Given the description of an element on the screen output the (x, y) to click on. 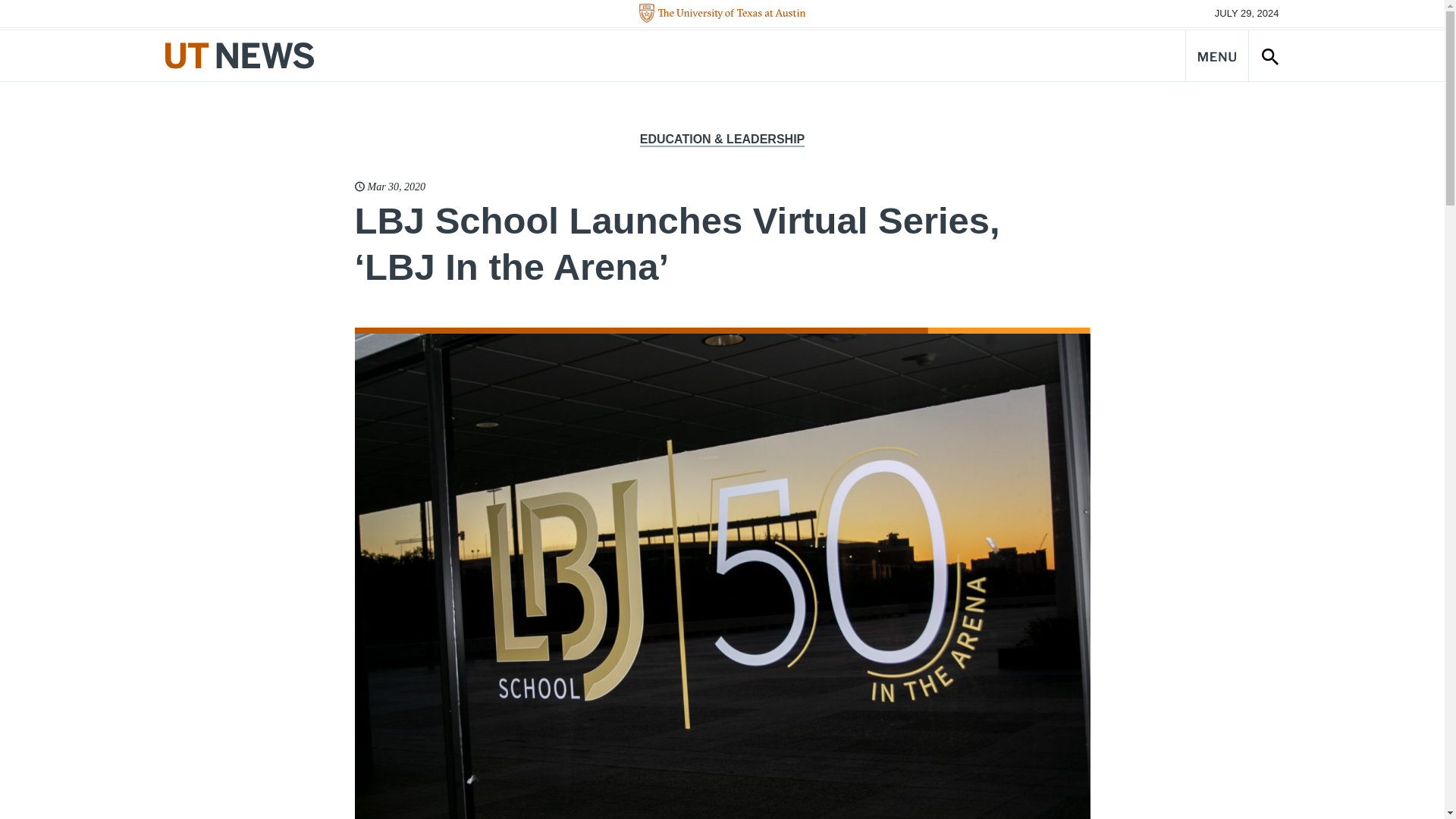
UT News (239, 55)
Navigation (1216, 55)
The University of Texas at Austin (722, 13)
